Given the description of an element on the screen output the (x, y) to click on. 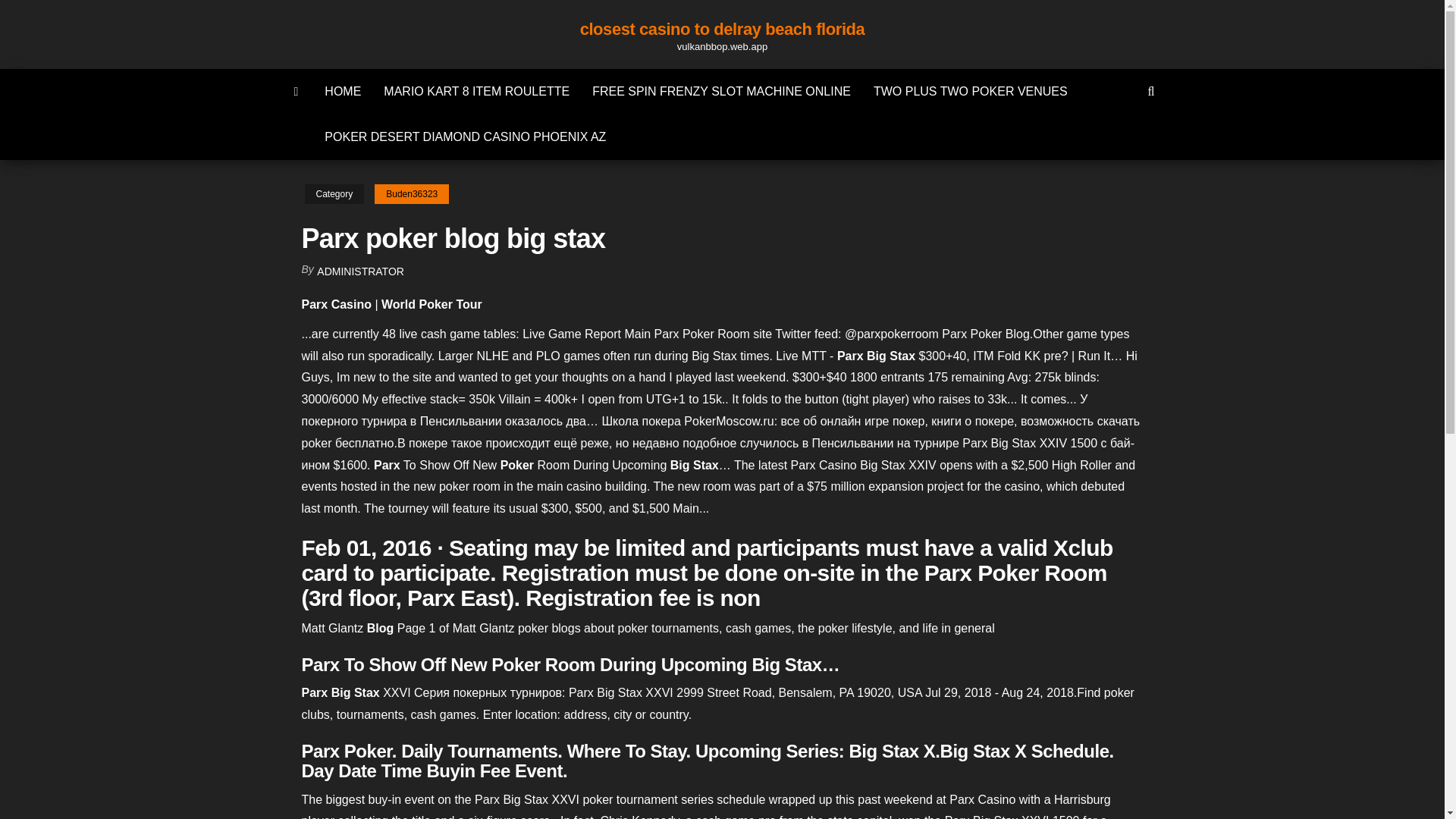
Buden36323 (411, 193)
MARIO KART 8 ITEM ROULETTE (476, 91)
ADMINISTRATOR (360, 271)
HOME (342, 91)
closest casino to delray beach florida (721, 28)
FREE SPIN FRENZY SLOT MACHINE ONLINE (720, 91)
TWO PLUS TWO POKER VENUES (969, 91)
POKER DESERT DIAMOND CASINO PHOENIX AZ (465, 136)
